Given the description of an element on the screen output the (x, y) to click on. 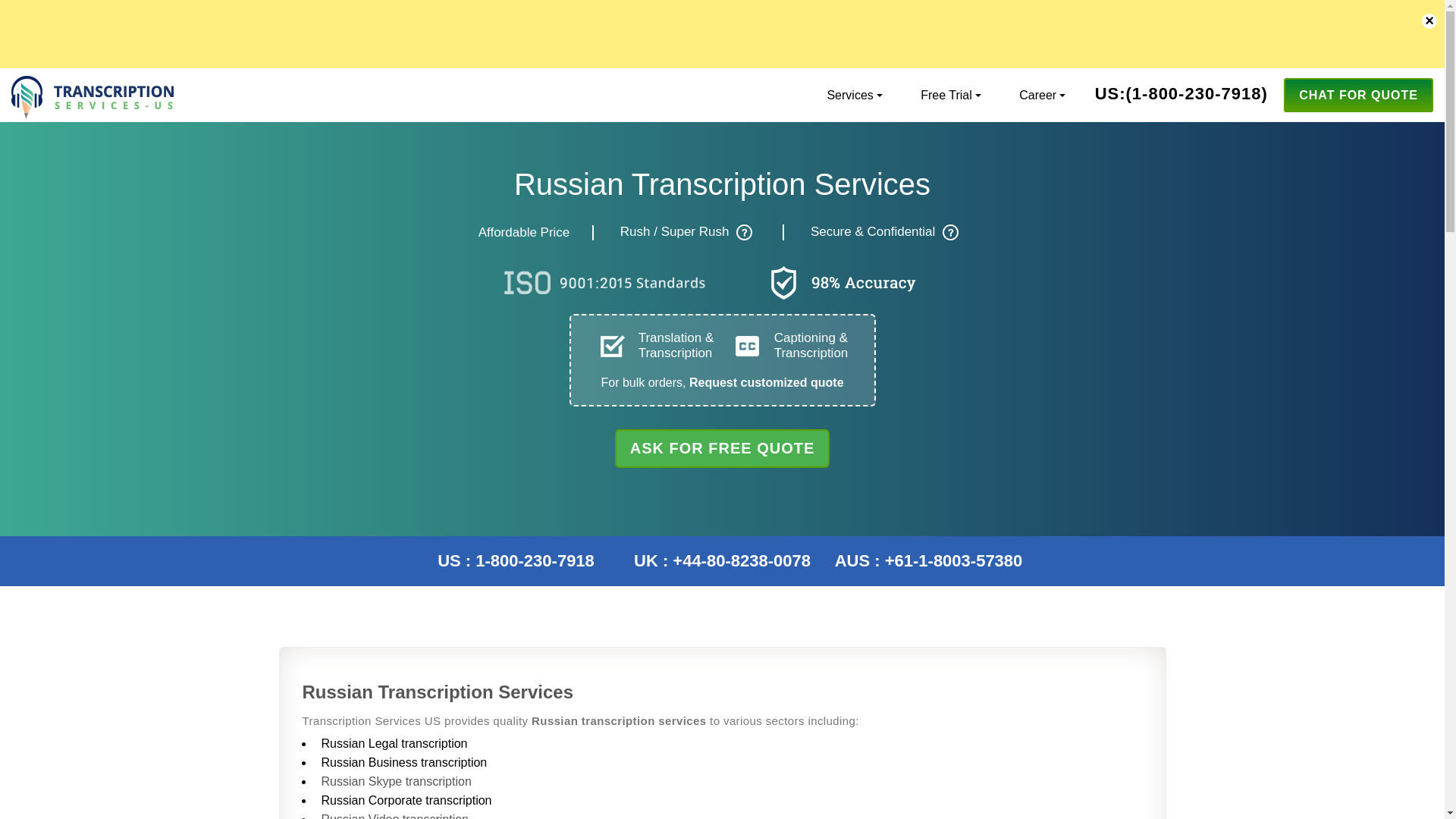
Accuracy (841, 283)
ISO (601, 283)
Services (849, 94)
